Given the description of an element on the screen output the (x, y) to click on. 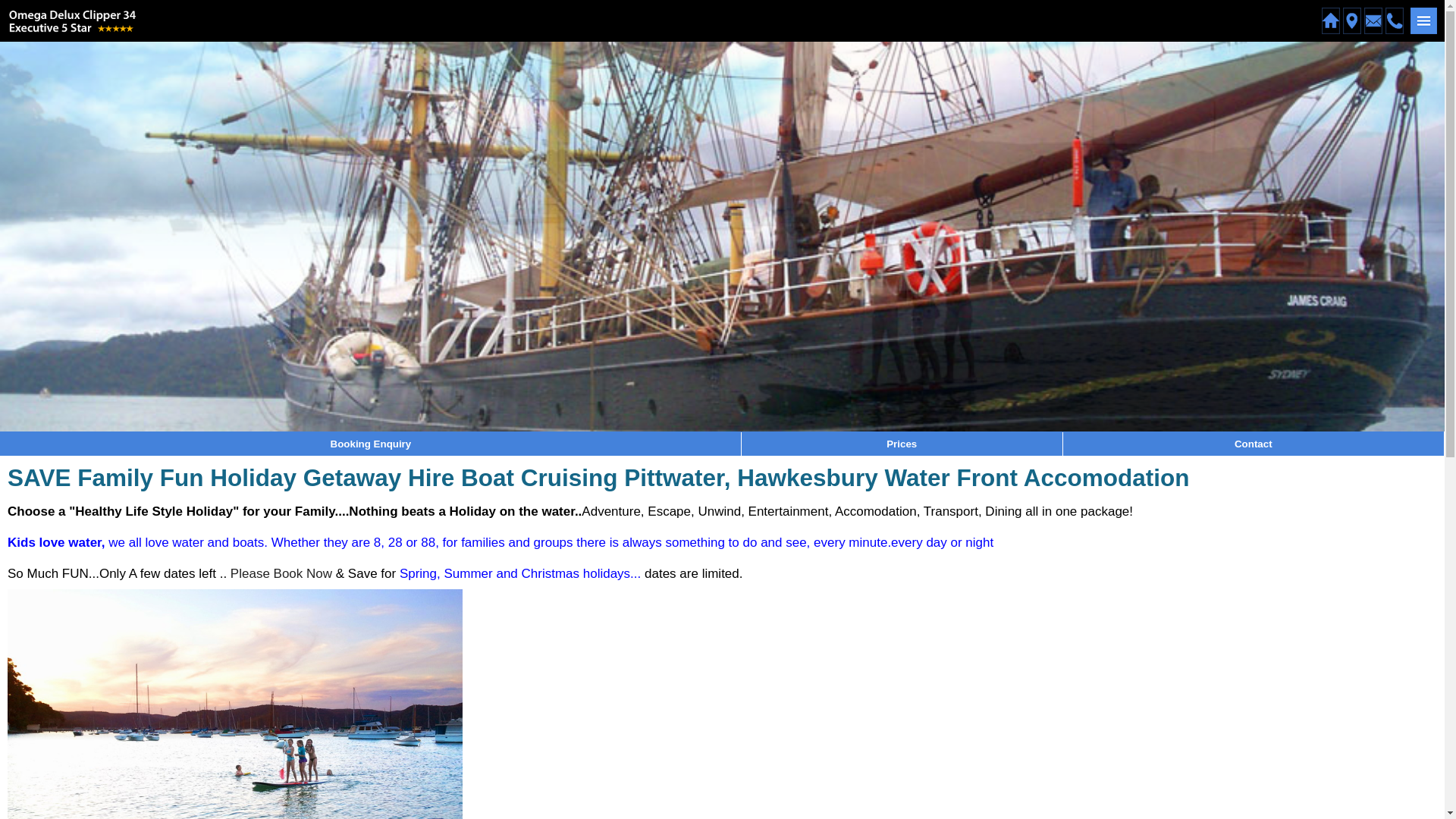
Contact Element type: text (1253, 443)
Prices Element type: text (901, 443)
Booking Enquiry Element type: text (370, 443)
